Given the description of an element on the screen output the (x, y) to click on. 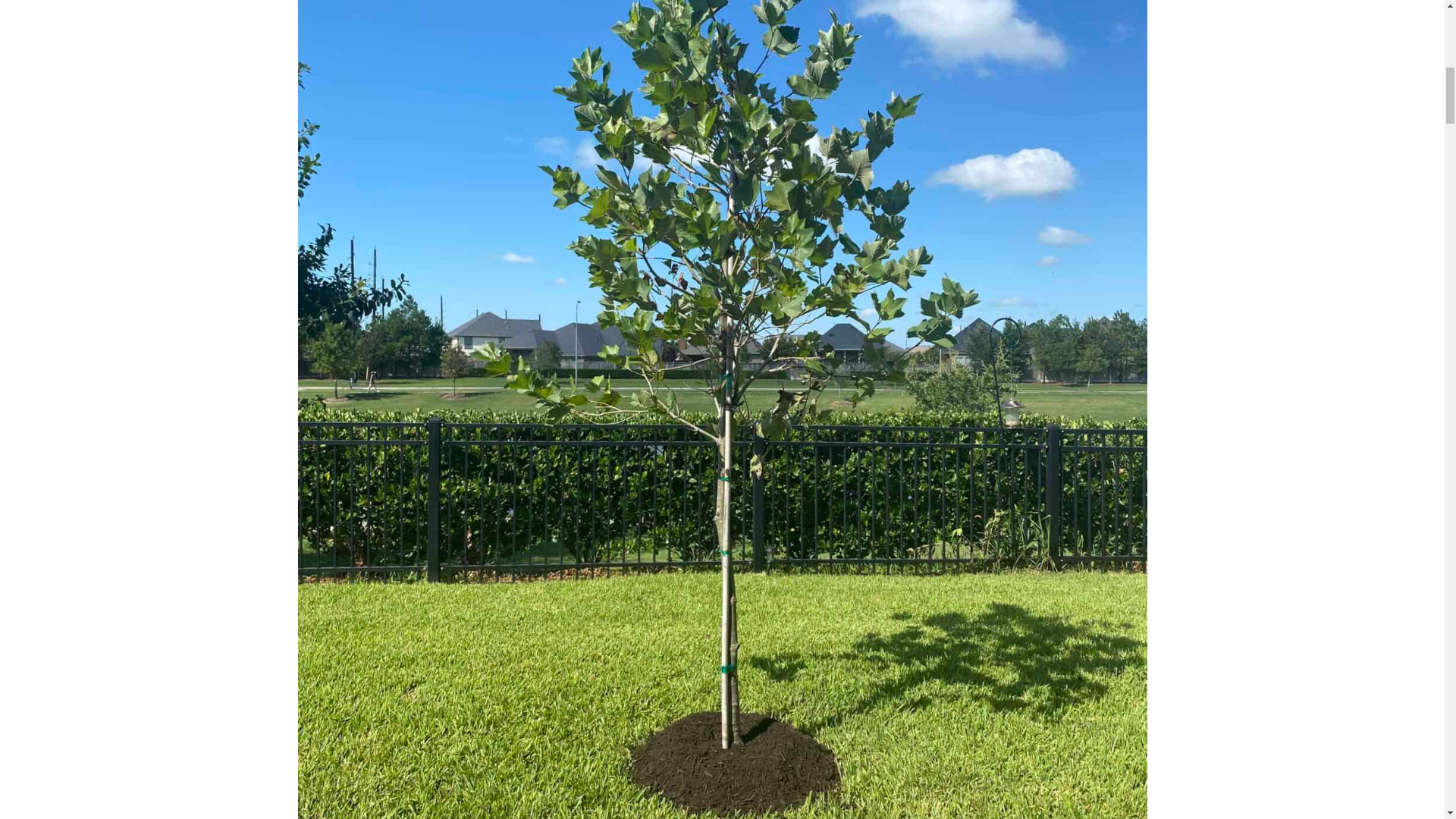
Scroll back to top (1406, 720)
